Given the description of an element on the screen output the (x, y) to click on. 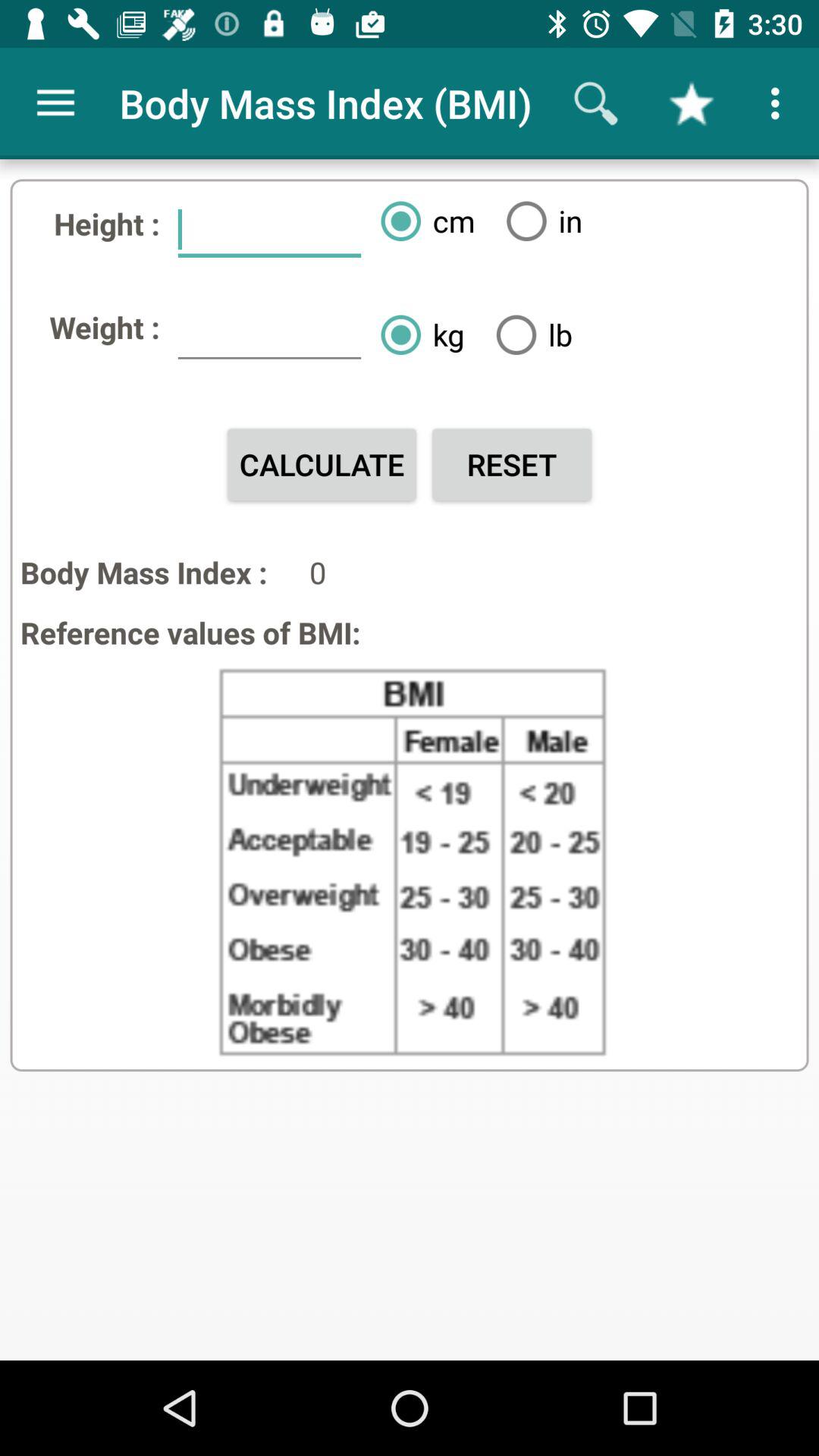
turn off the icon above body mass index : (321, 464)
